Given the description of an element on the screen output the (x, y) to click on. 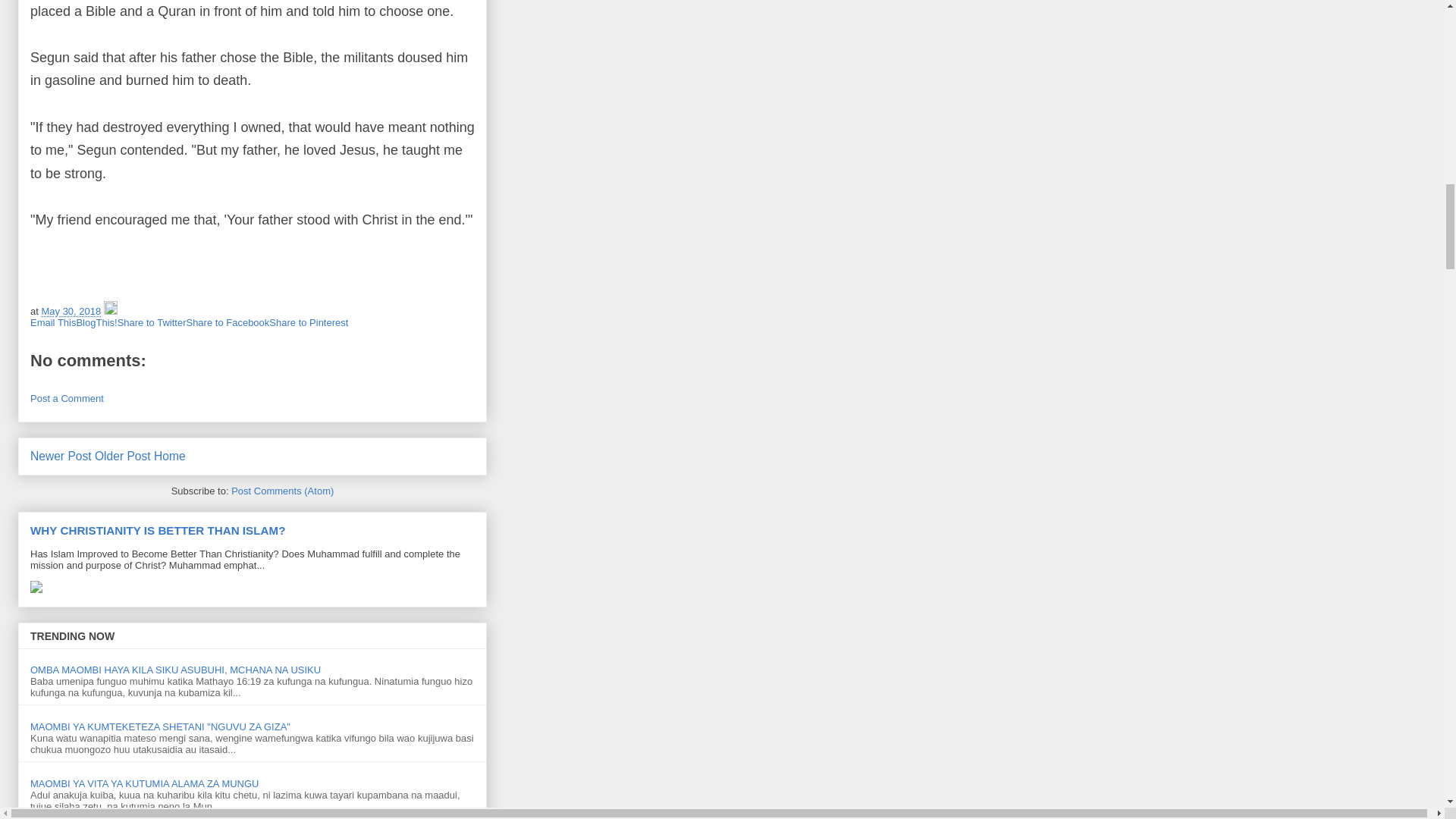
Post a Comment (66, 398)
MAOMBI YA KUMTEKETEZA SHETANI "NGUVU ZA GIZA" (159, 726)
Home (170, 455)
Share to Twitter (151, 322)
Older Post (122, 455)
Share to Facebook (227, 322)
Older Post (122, 455)
Share to Pinterest (308, 322)
OMBA MAOMBI HAYA KILA SIKU ASUBUHI, MCHANA NA USIKU (175, 669)
MAOMBI YA VITA YA KUTUMIA ALAMA ZA MUNGU (144, 783)
BlogThis! (95, 322)
Share to Facebook (227, 322)
Edit Post (110, 310)
Email This (52, 322)
WHY CHRISTIANITY IS BETTER THAN ISLAM? (157, 530)
